Given the description of an element on the screen output the (x, y) to click on. 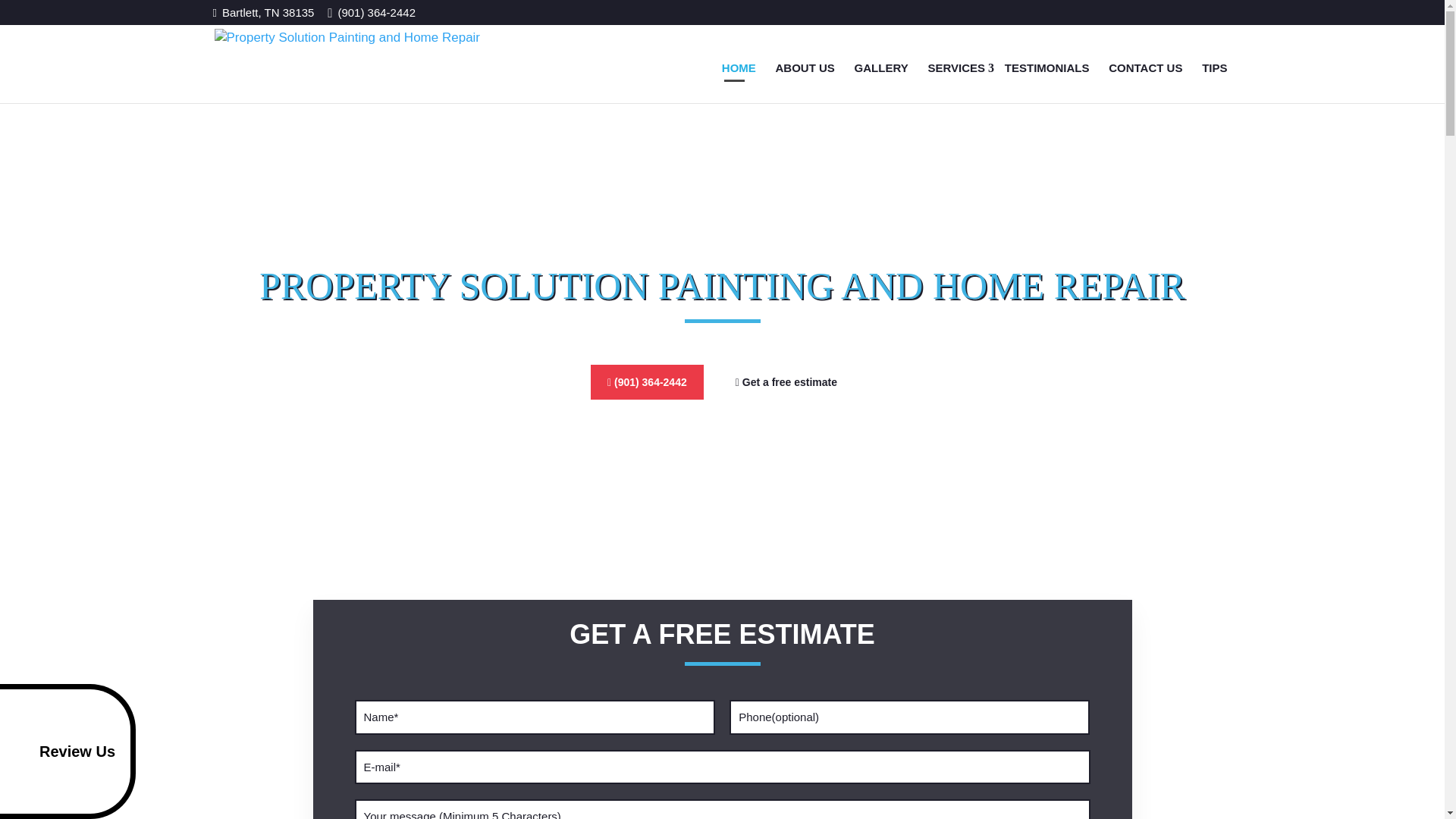
GALLERY (881, 67)
Customer Name (534, 687)
Get a free estimate (786, 450)
CONTACT US (1145, 67)
Message (722, 794)
SERVICES (956, 67)
TESTIMONIALS (1047, 67)
Review Us (67, 798)
Customer E-mail (722, 738)
Phone (909, 687)
ABOUT US (805, 67)
